Given the description of an element on the screen output the (x, y) to click on. 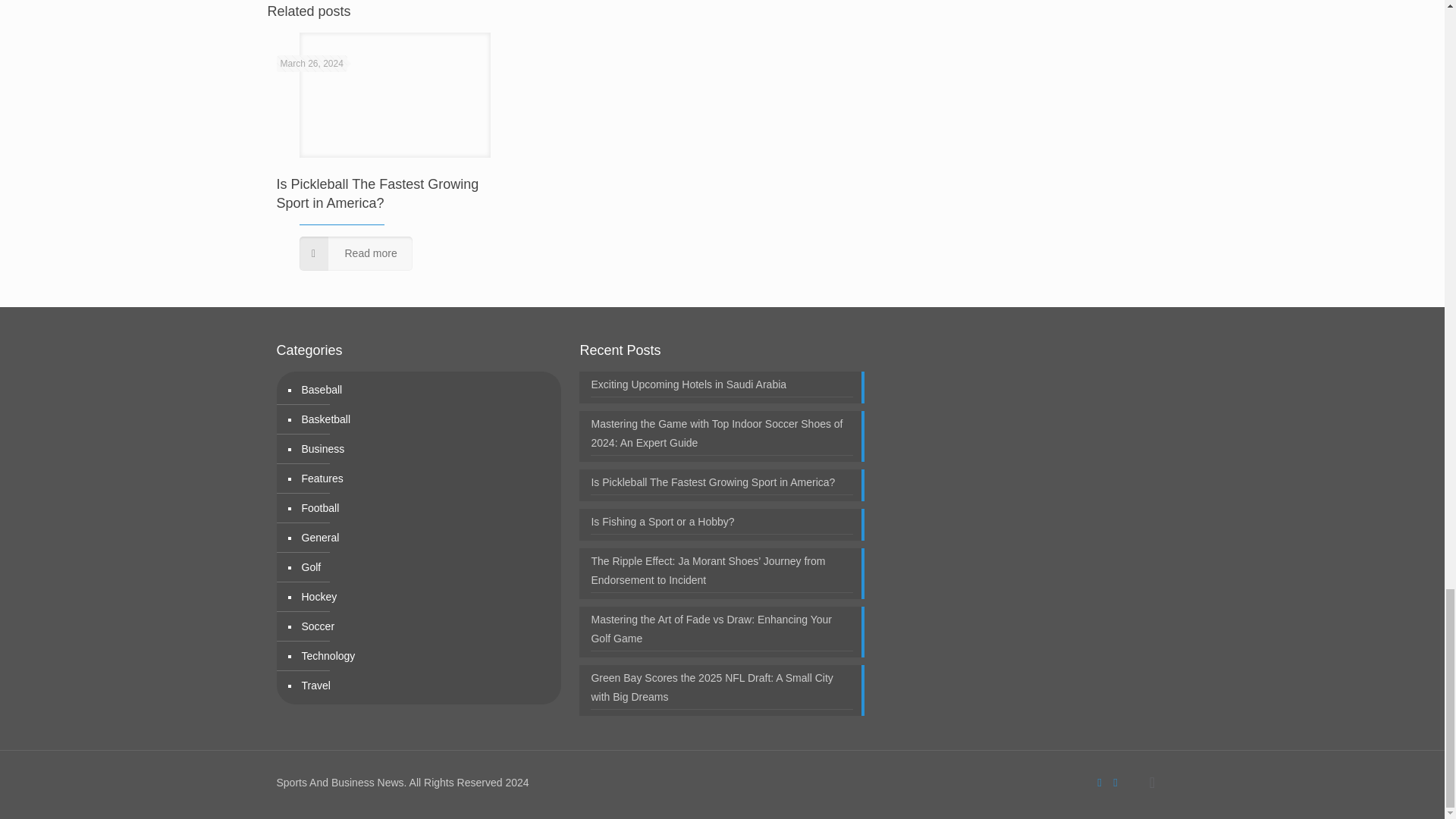
Read more (355, 253)
Is Pickleball The Fastest Growing Sport in America? (377, 193)
